Given the description of an element on the screen output the (x, y) to click on. 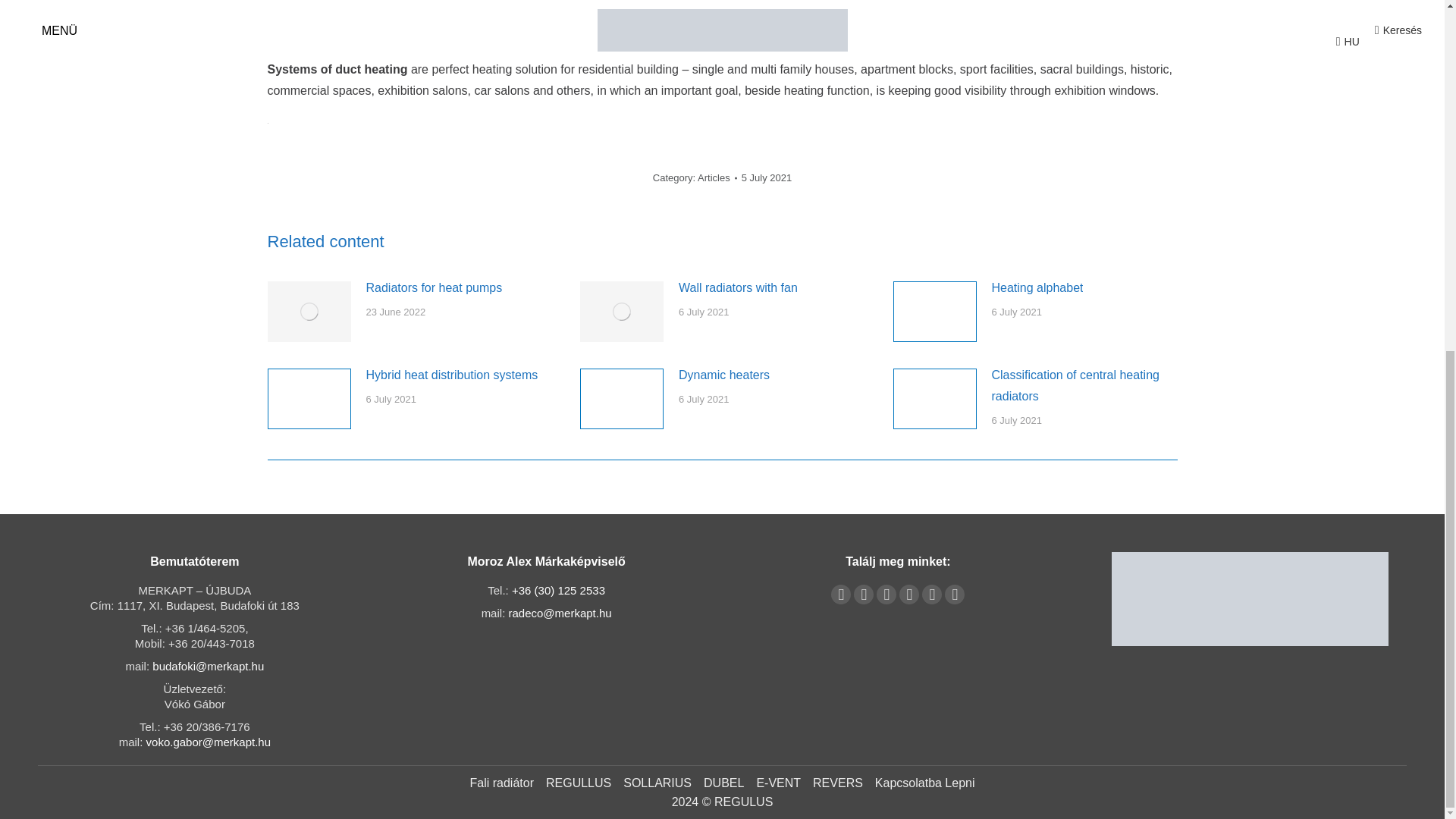
Radiators for heat pumps (433, 287)
Instagram page opens in new window (908, 594)
YouTube page opens in new window (863, 594)
Pinterest page opens in new window (886, 594)
Wall radiators with fan (737, 287)
Articles (713, 177)
Mail page opens in new window (931, 594)
Hybrid heat distribution systems (451, 374)
Facebook page opens in new window (840, 594)
5 July 2021 (766, 177)
